Given the description of an element on the screen output the (x, y) to click on. 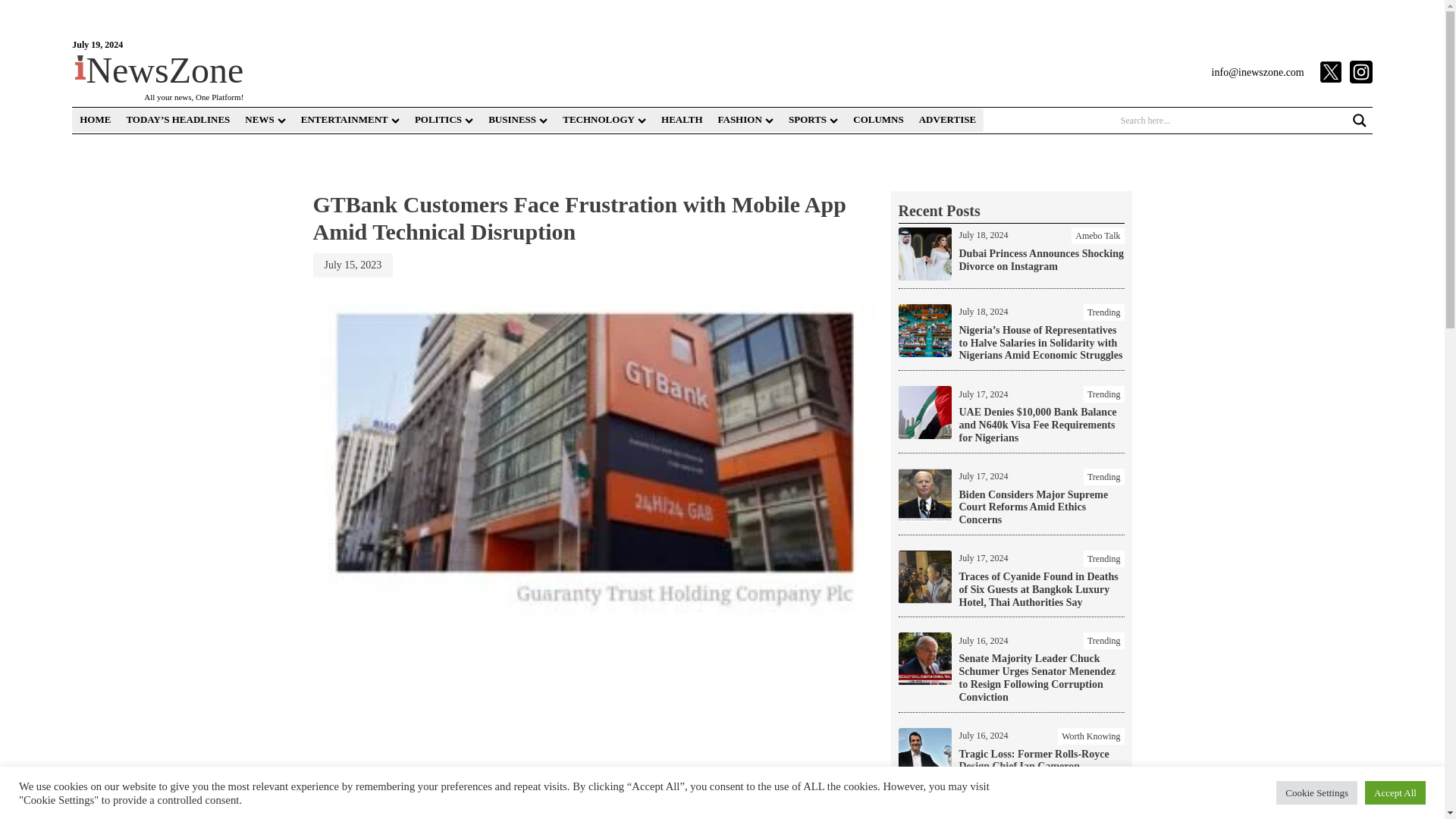
ENTERTAINMENT (350, 119)
NEWS (264, 119)
HOME (94, 119)
NewsZone (159, 70)
